Given the description of an element on the screen output the (x, y) to click on. 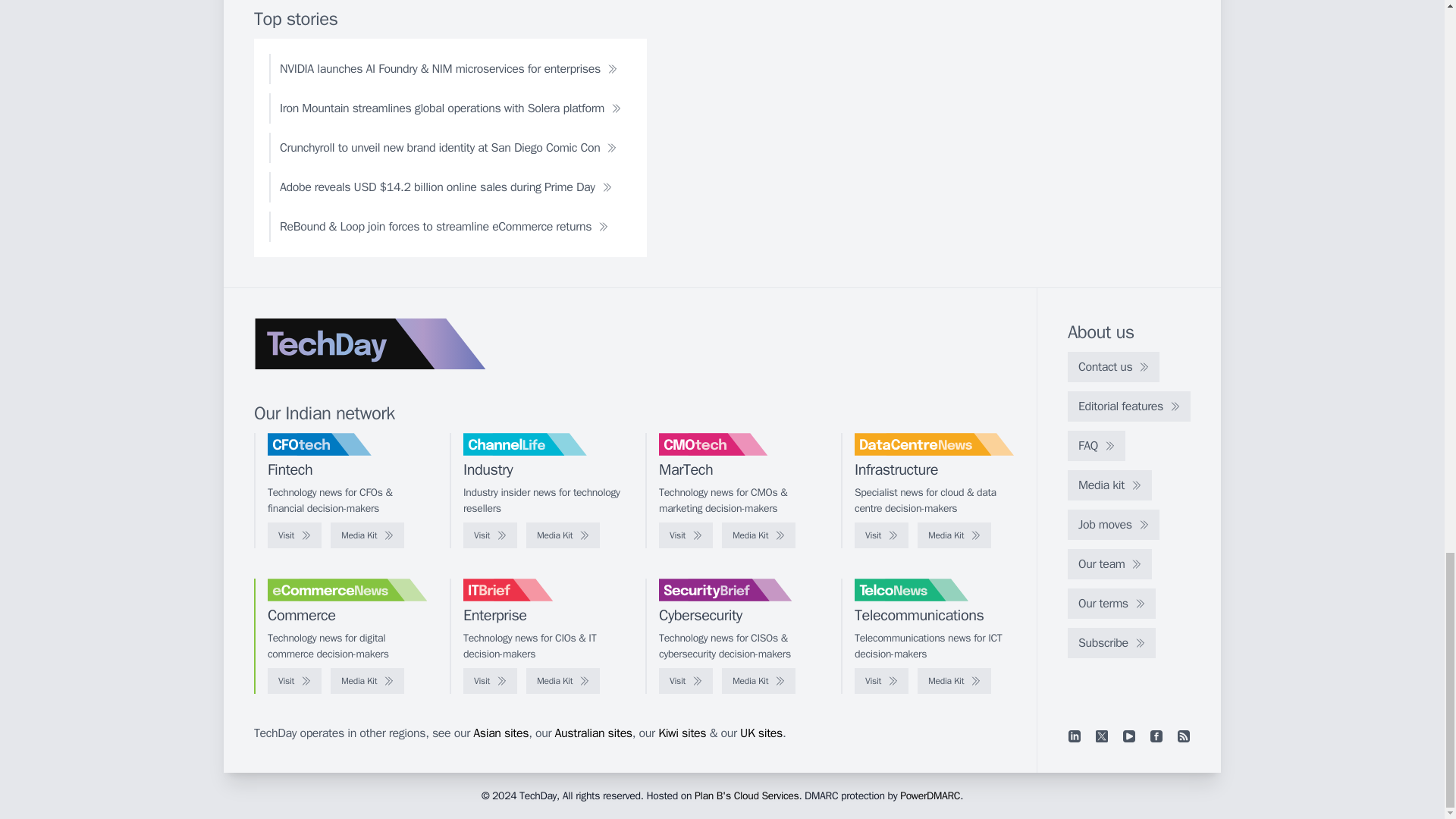
Media Kit (367, 534)
Visit (294, 534)
Visit (489, 534)
Visit (881, 534)
Media Kit (954, 534)
Media Kit (562, 534)
Media Kit (758, 534)
Visit (686, 534)
